Given the description of an element on the screen output the (x, y) to click on. 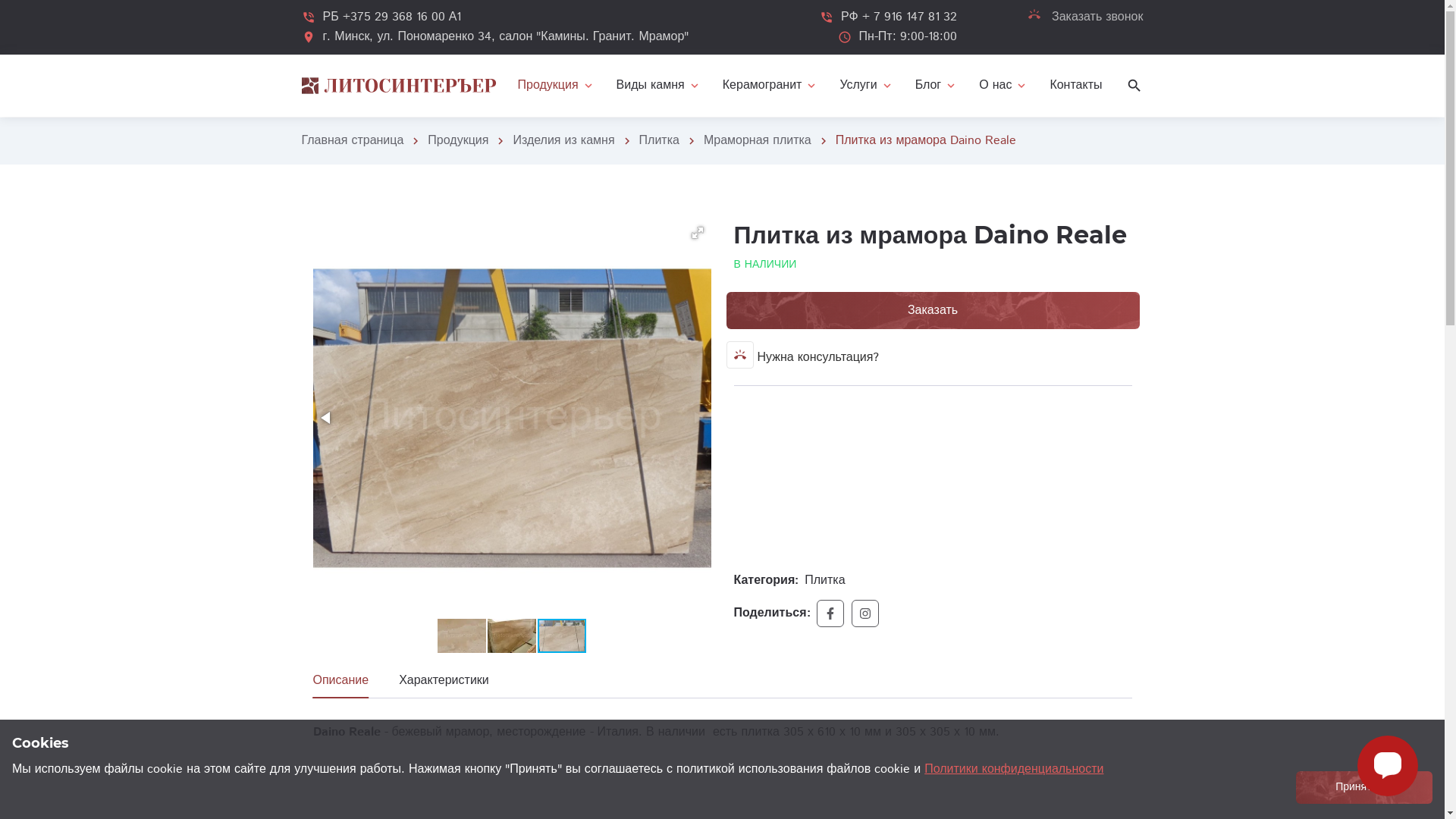
daino-reale Element type: hover (461, 635)
expand_more Element type: text (556, 85)
litos.by Element type: hover (398, 85)
DAINO4 Element type: hover (511, 418)
Facebook Element type: hover (830, 613)
DAINO4 Element type: hover (561, 635)
Instagram Element type: hover (864, 613)
daino_reale_1 Element type: hover (511, 635)
